Given the description of an element on the screen output the (x, y) to click on. 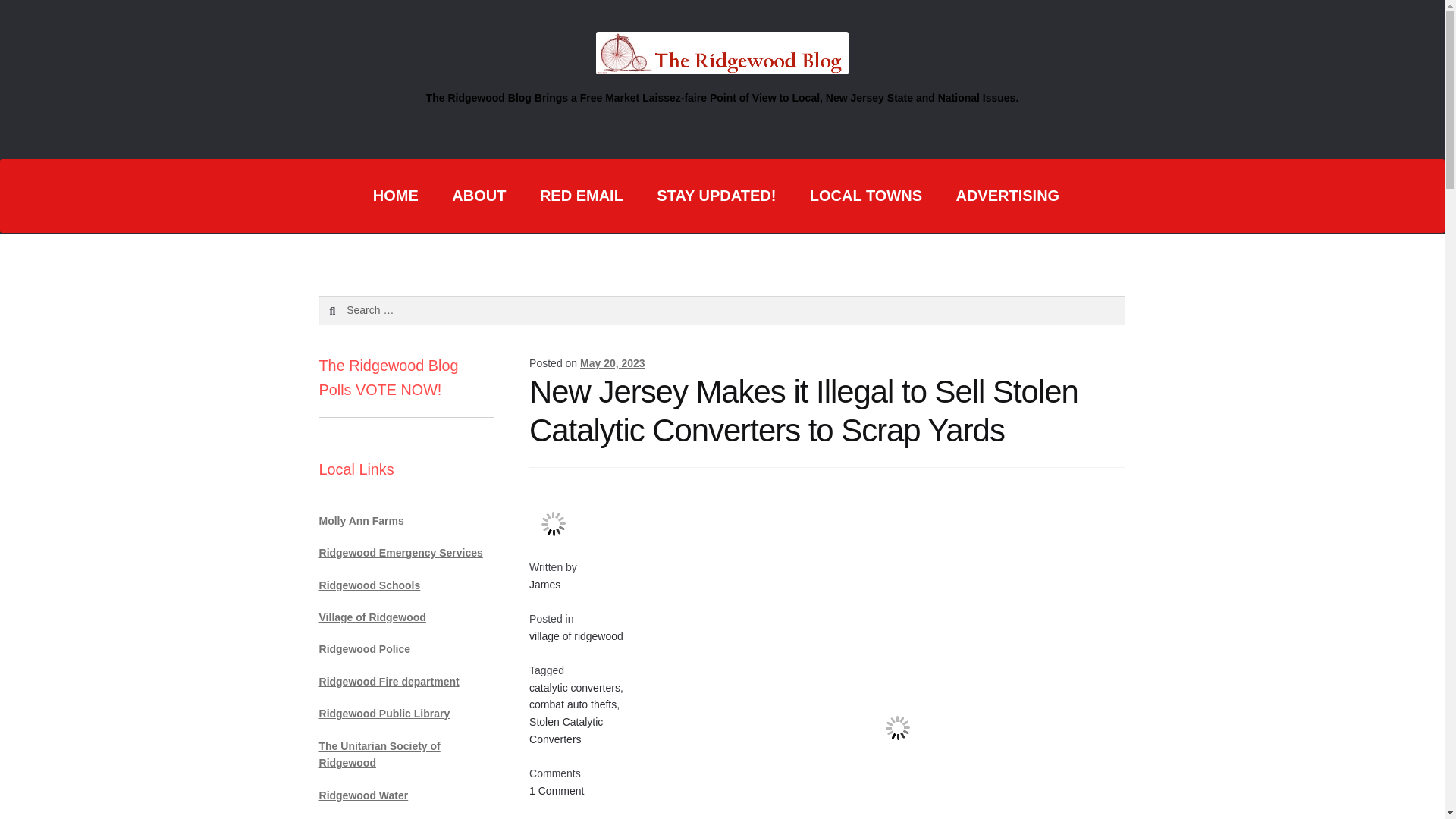
May 20, 2023 (612, 363)
village of ridgewood (576, 635)
RED EMAIL (581, 195)
Stolen Catalytic Converters (565, 730)
LOCAL NJ Towns News (865, 195)
1 Comment (556, 790)
ADVERTISING (1007, 195)
HOME (395, 195)
combat auto thefts (572, 704)
catalytic converters (574, 687)
ABOUT (478, 195)
James (544, 584)
